Given the description of an element on the screen output the (x, y) to click on. 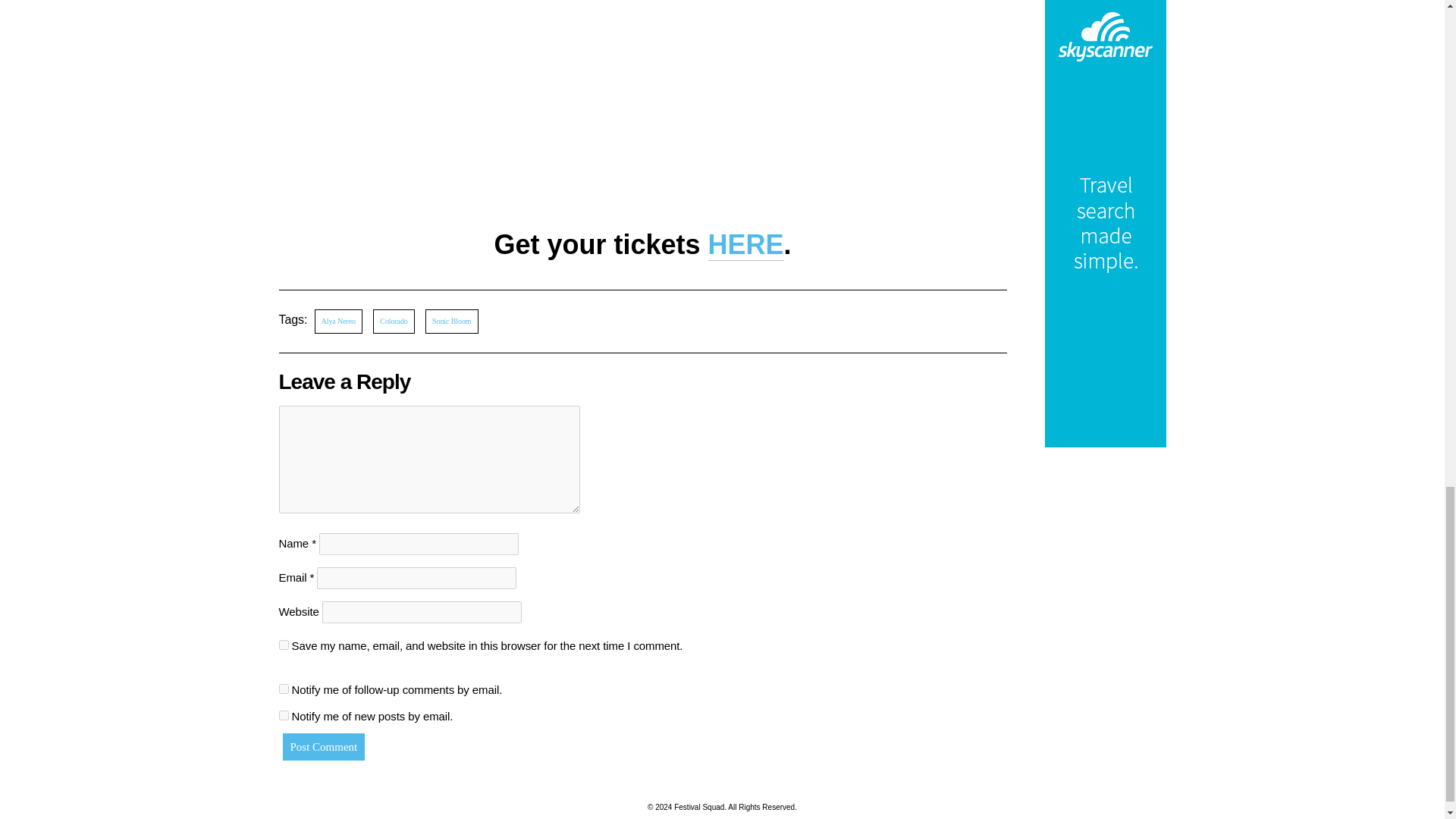
Post Comment (323, 746)
yes (283, 644)
HERE (745, 245)
Post Comment (323, 746)
Colorado (392, 321)
subscribe (283, 715)
Sonic Bloom (451, 321)
subscribe (283, 687)
Alya Nereo (338, 321)
